Given the description of an element on the screen output the (x, y) to click on. 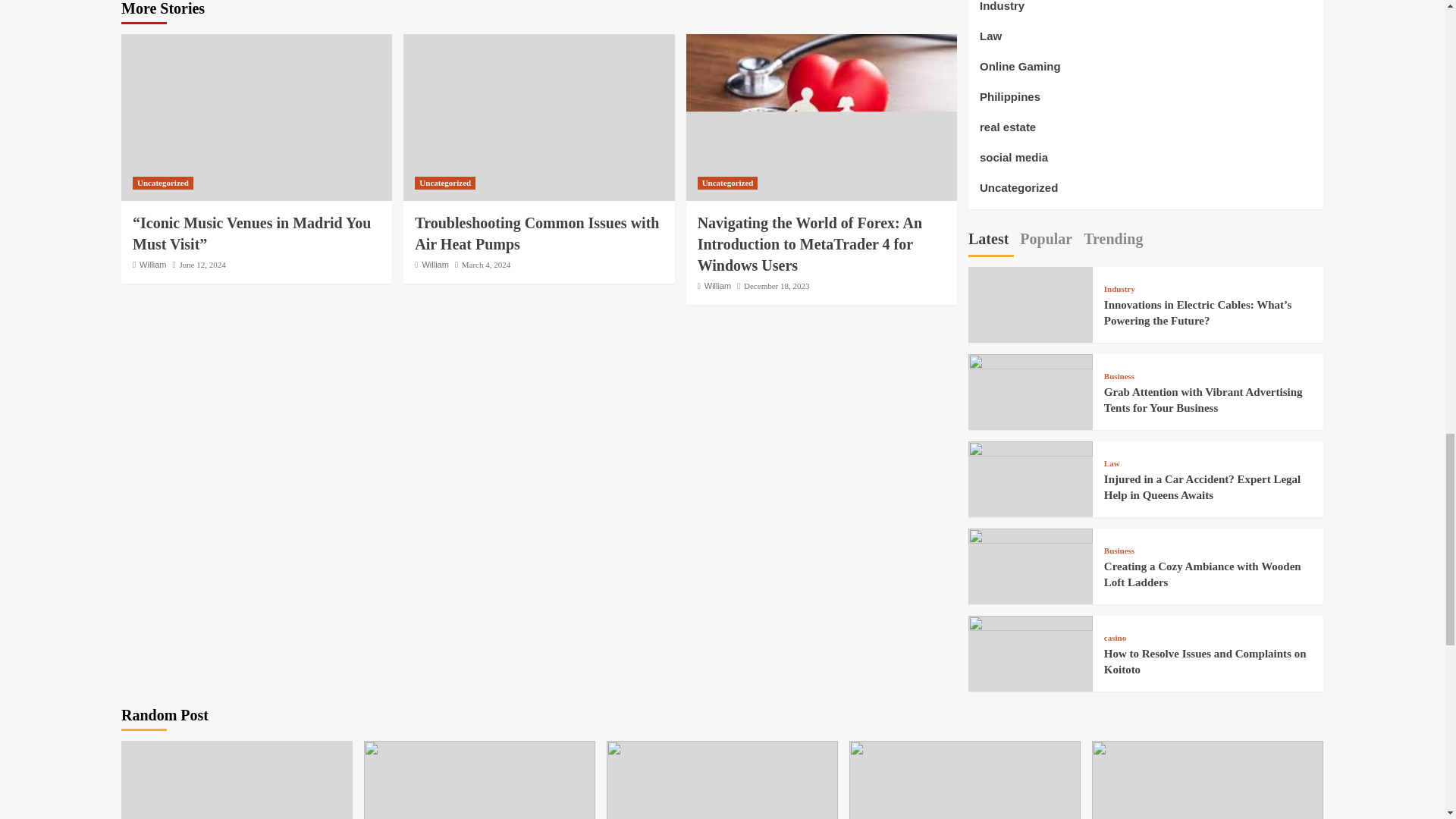
Uncategorized (445, 182)
William (152, 264)
Uncategorized (727, 182)
March 4, 2024 (486, 264)
William (435, 264)
William (717, 285)
December 18, 2023 (776, 285)
June 12, 2024 (202, 264)
Troubleshooting Common Issues with Air Heat Pumps (536, 233)
Uncategorized (162, 182)
